Given the description of an element on the screen output the (x, y) to click on. 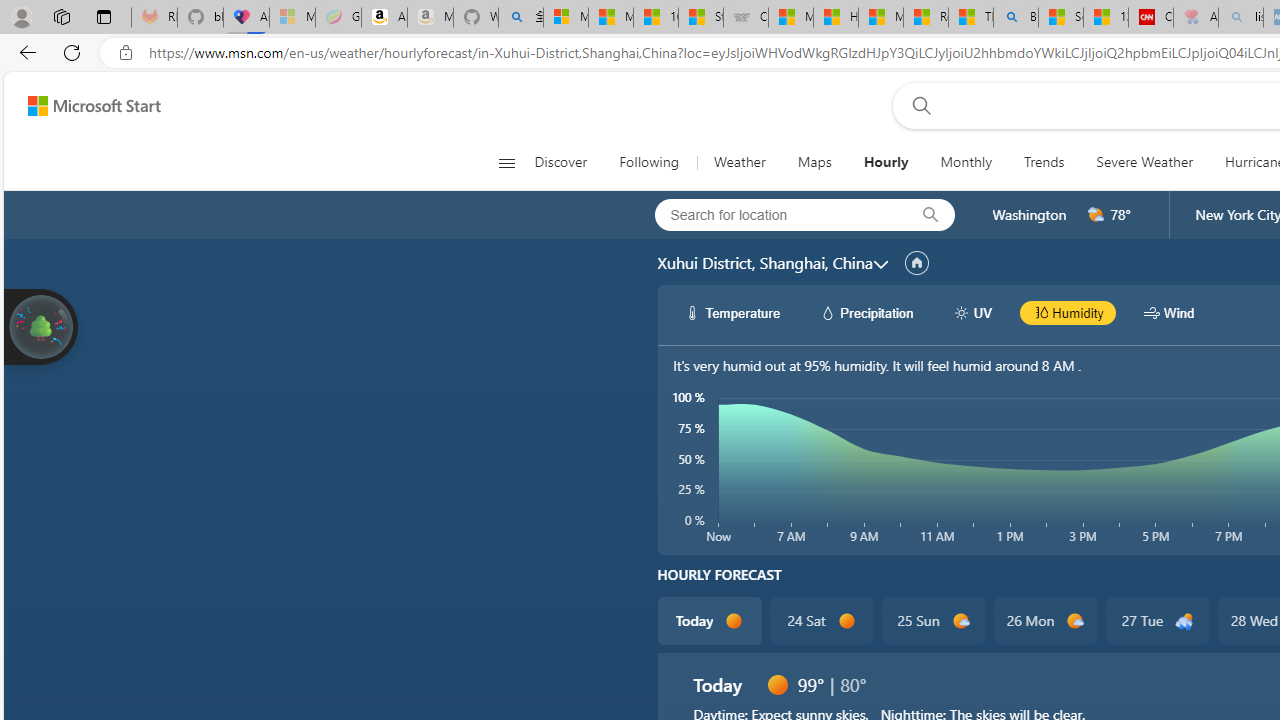
Trends (1044, 162)
Xuhui District, Shanghai, China (764, 263)
hourlyChart/windWhite Wind (1169, 312)
hourlyChart/windWhite (1152, 312)
hourlyChart/temperatureWhite (692, 312)
hourlyChart/humidityBlack (1040, 312)
common/carouselChevron (880, 264)
hourlyChart/uvWhite UV (972, 312)
